Given the description of an element on the screen output the (x, y) to click on. 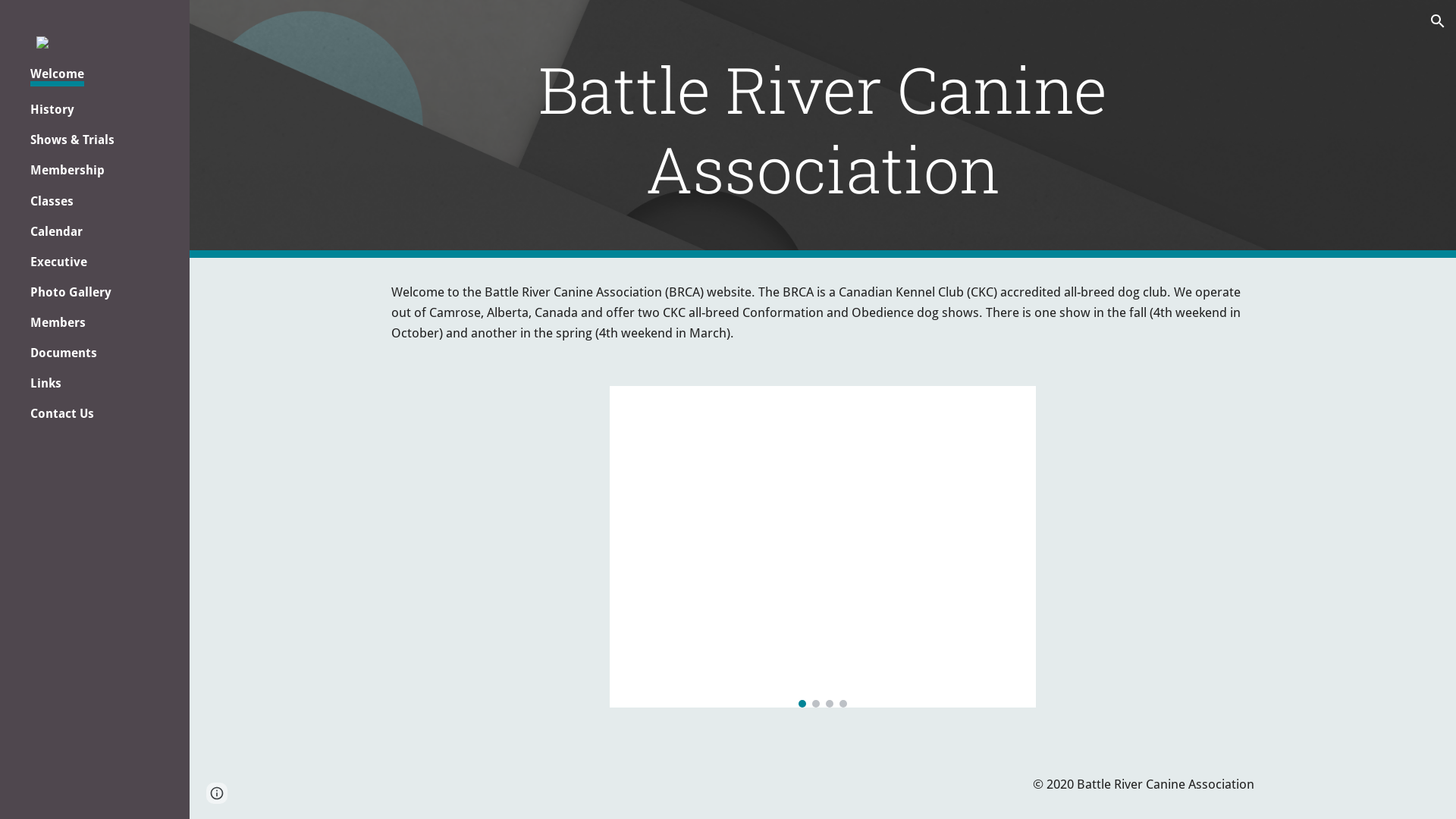
Documents Element type: text (63, 352)
Welcome Element type: text (57, 76)
Executive Element type: text (58, 261)
History Element type: text (52, 109)
Calendar Element type: text (56, 231)
Membership Element type: text (67, 170)
Shows & Trials Element type: text (72, 139)
Classes Element type: text (51, 201)
Contact Us Element type: text (62, 413)
Photo Gallery Element type: text (70, 292)
Links Element type: text (45, 383)
Members Element type: text (57, 322)
